Given the description of an element on the screen output the (x, y) to click on. 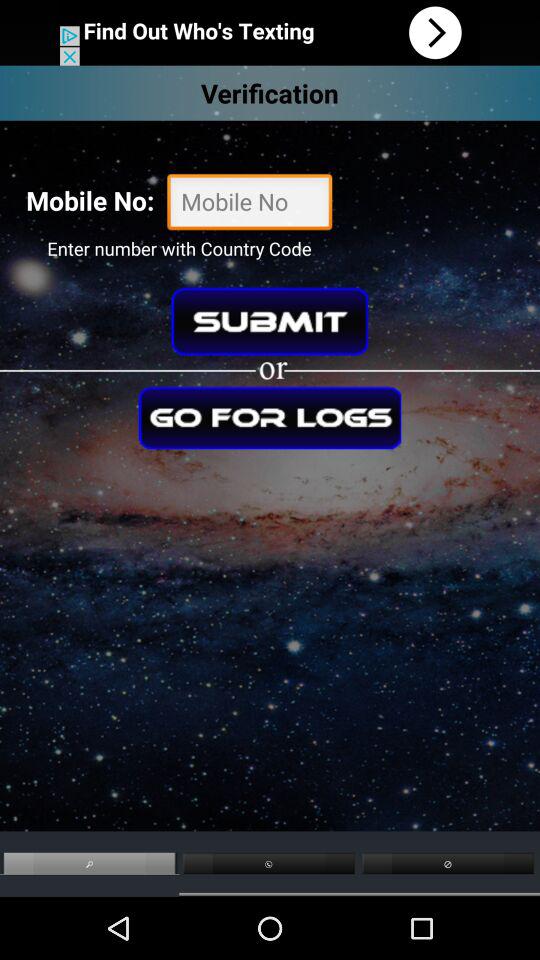
submit button (269, 321)
